Given the description of an element on the screen output the (x, y) to click on. 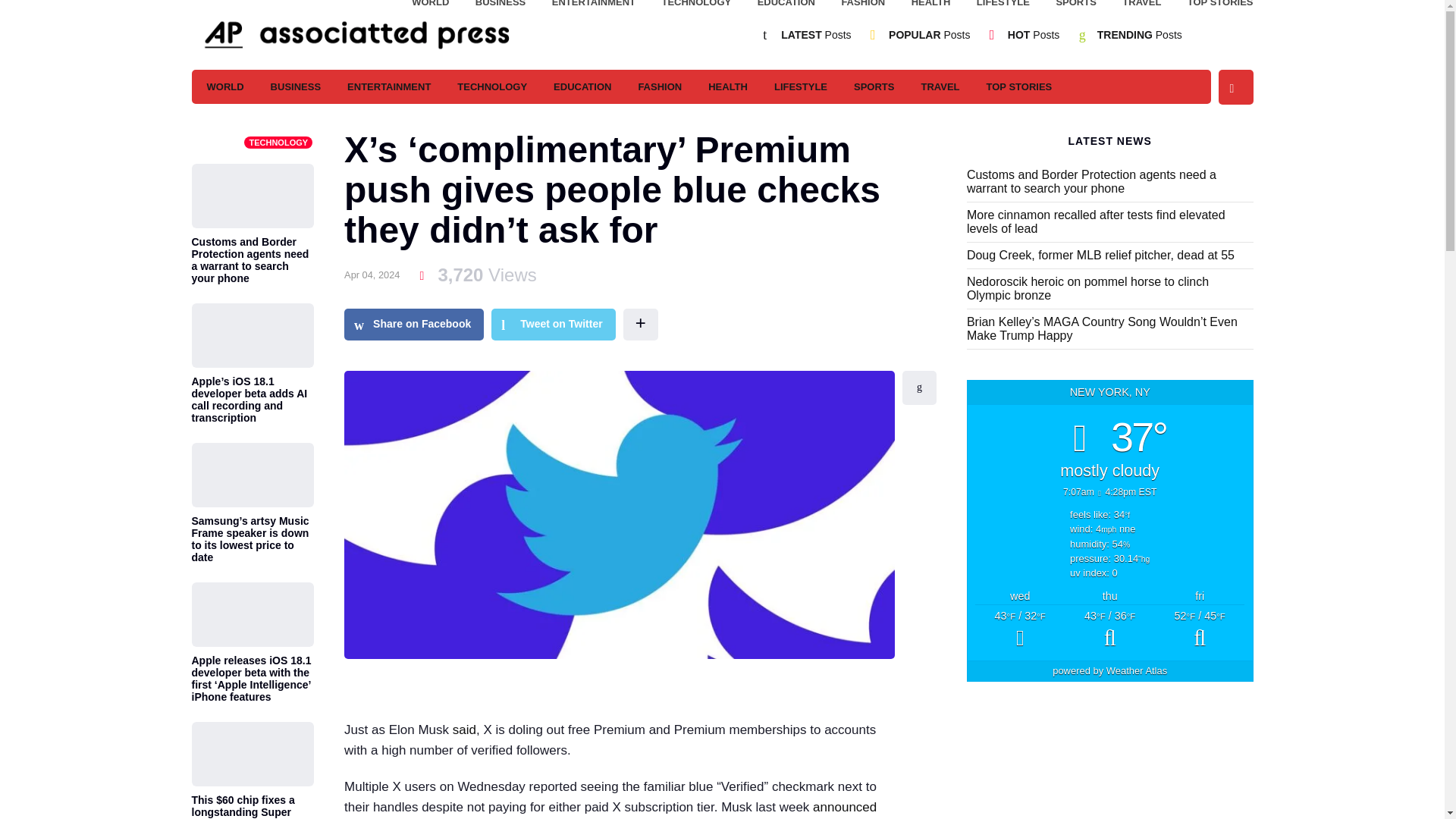
Cloudy (1019, 630)
HEALTH (727, 86)
TOP STORIES (1220, 5)
TOP STORIES (1019, 86)
WORLD (224, 86)
POPULAR Posts (928, 35)
BUSINESS (295, 86)
ENTERTAINMENT (388, 86)
FASHION (863, 5)
LIFESTYLE (1002, 5)
TRAVEL (1141, 5)
TRENDING Posts (1139, 35)
TECHNOLOGY (492, 86)
SPORTS (873, 86)
